Given the description of an element on the screen output the (x, y) to click on. 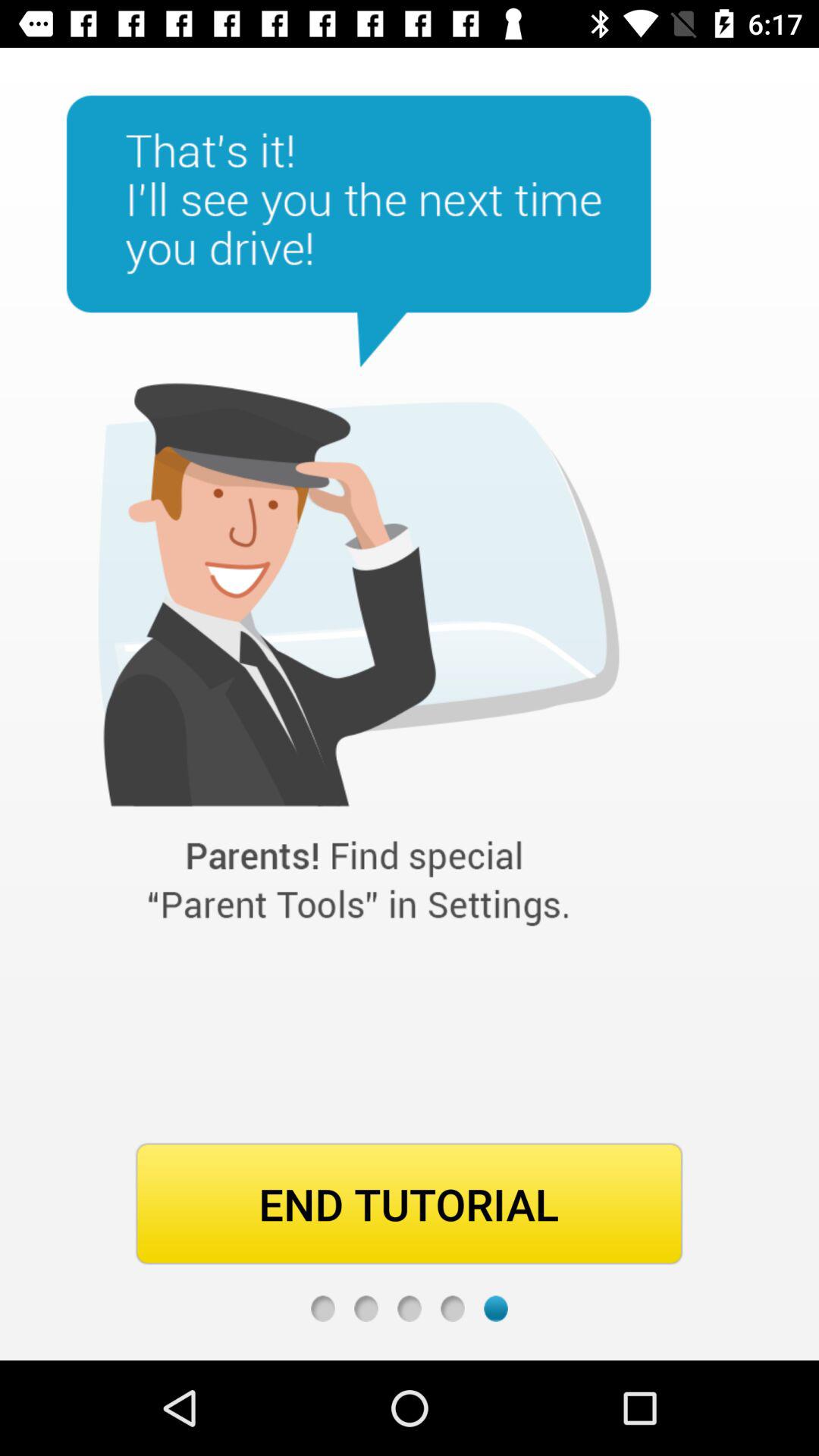
go to the last page (495, 1308)
